Given the description of an element on the screen output the (x, y) to click on. 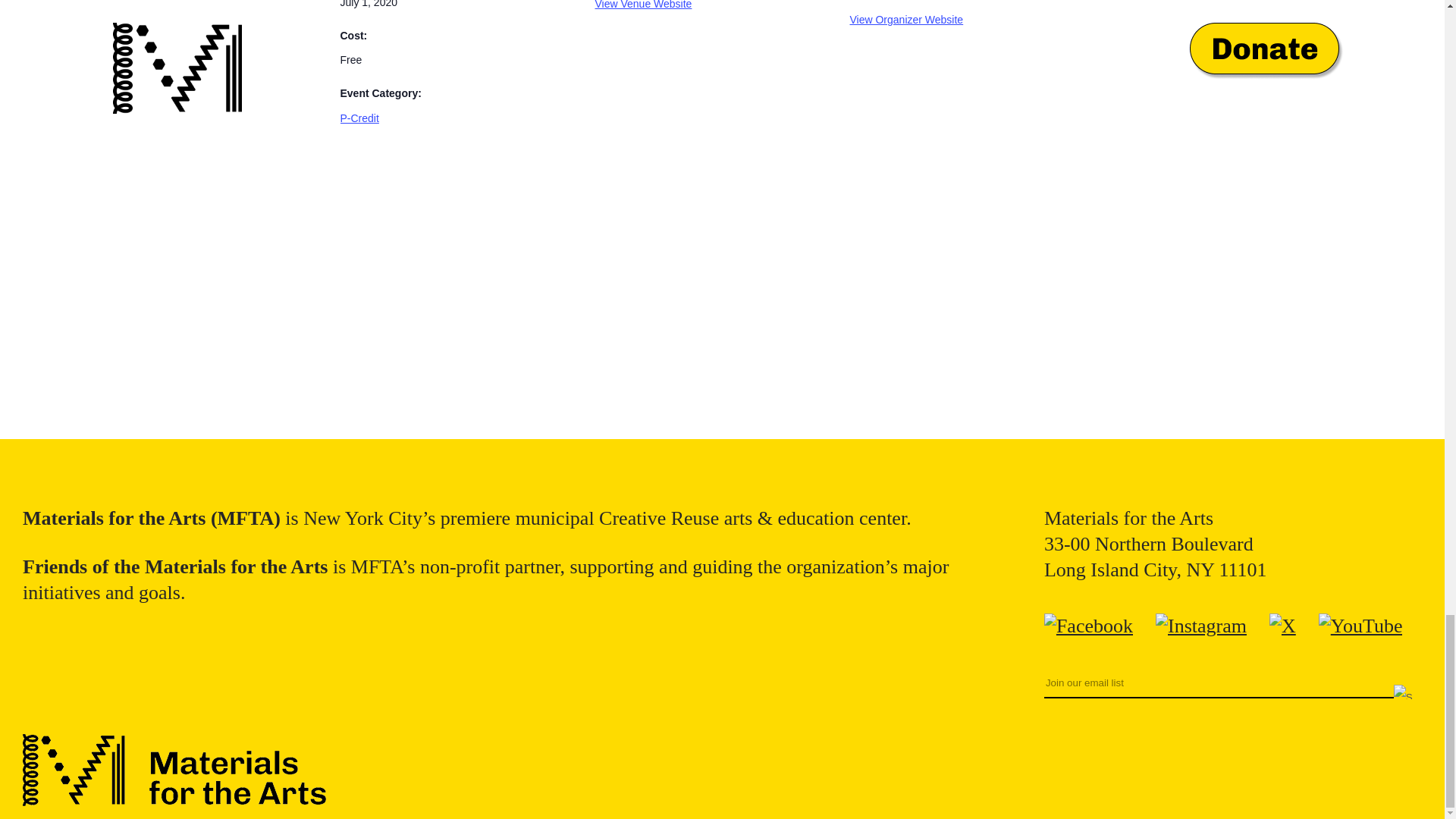
2020-07-01 (368, 4)
P-Credit (358, 118)
View Venue Website (642, 4)
